Given the description of an element on the screen output the (x, y) to click on. 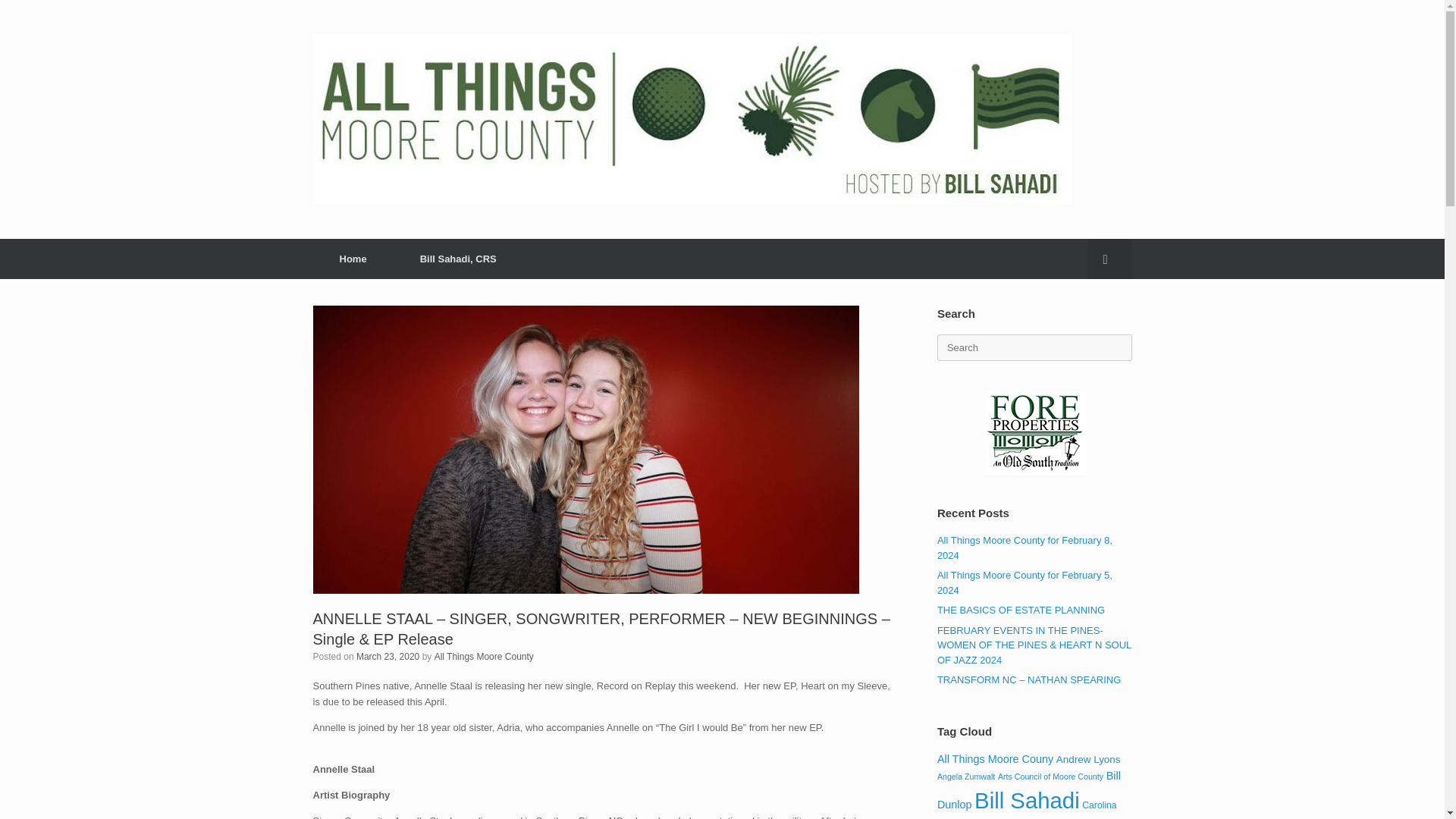
All Things Moore Couny (994, 758)
Bill Sahadi, CRS (457, 259)
Arts Council of Moore County (1050, 776)
Andrew Lyons (1089, 758)
Home (353, 259)
View all posts by All Things Moore County (483, 656)
Carolina Hotel (1026, 809)
THE BASICS OF ESTATE PLANNING (1021, 609)
Bill Sahadi (1027, 800)
All Things Moore County for February 5, 2024 (1024, 582)
